Given the description of an element on the screen output the (x, y) to click on. 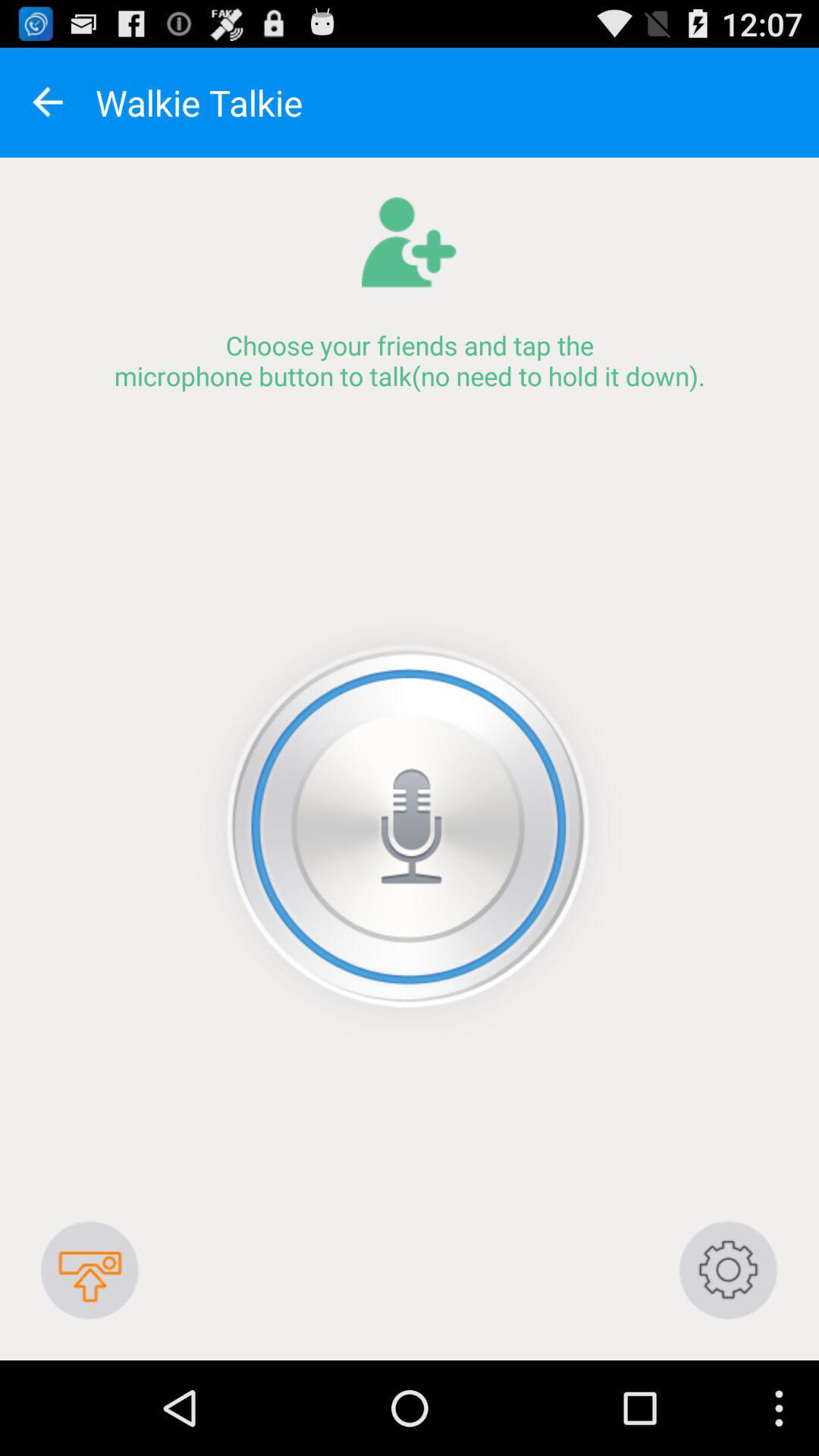
go to configuration (728, 1269)
